Given the description of an element on the screen output the (x, y) to click on. 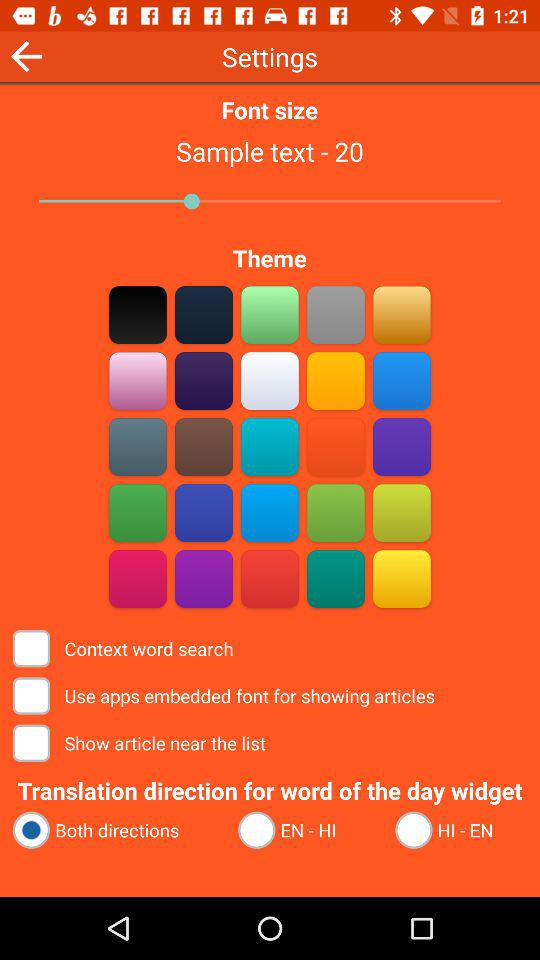
swipe to the use apps embedded item (225, 695)
